Given the description of an element on the screen output the (x, y) to click on. 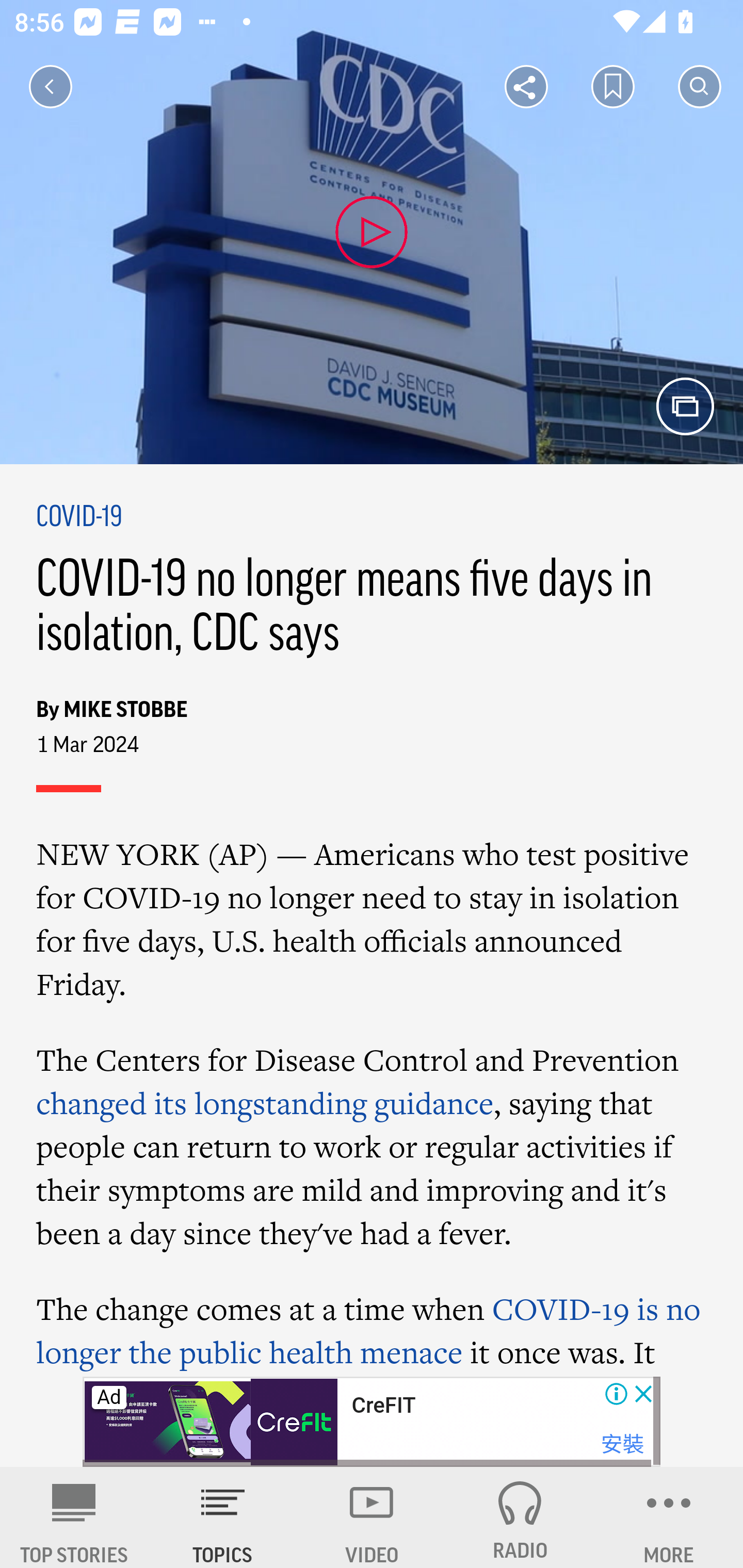
COVID-19 (79, 518)
changed its longstanding guidance (265, 1102)
COVID-19 is no longer the public health menace (369, 1330)
CreFIT (382, 1405)
安裝 (621, 1444)
AP News TOP STORIES (74, 1517)
TOPICS (222, 1517)
VIDEO (371, 1517)
RADIO (519, 1517)
MORE (668, 1517)
